Given the description of an element on the screen output the (x, y) to click on. 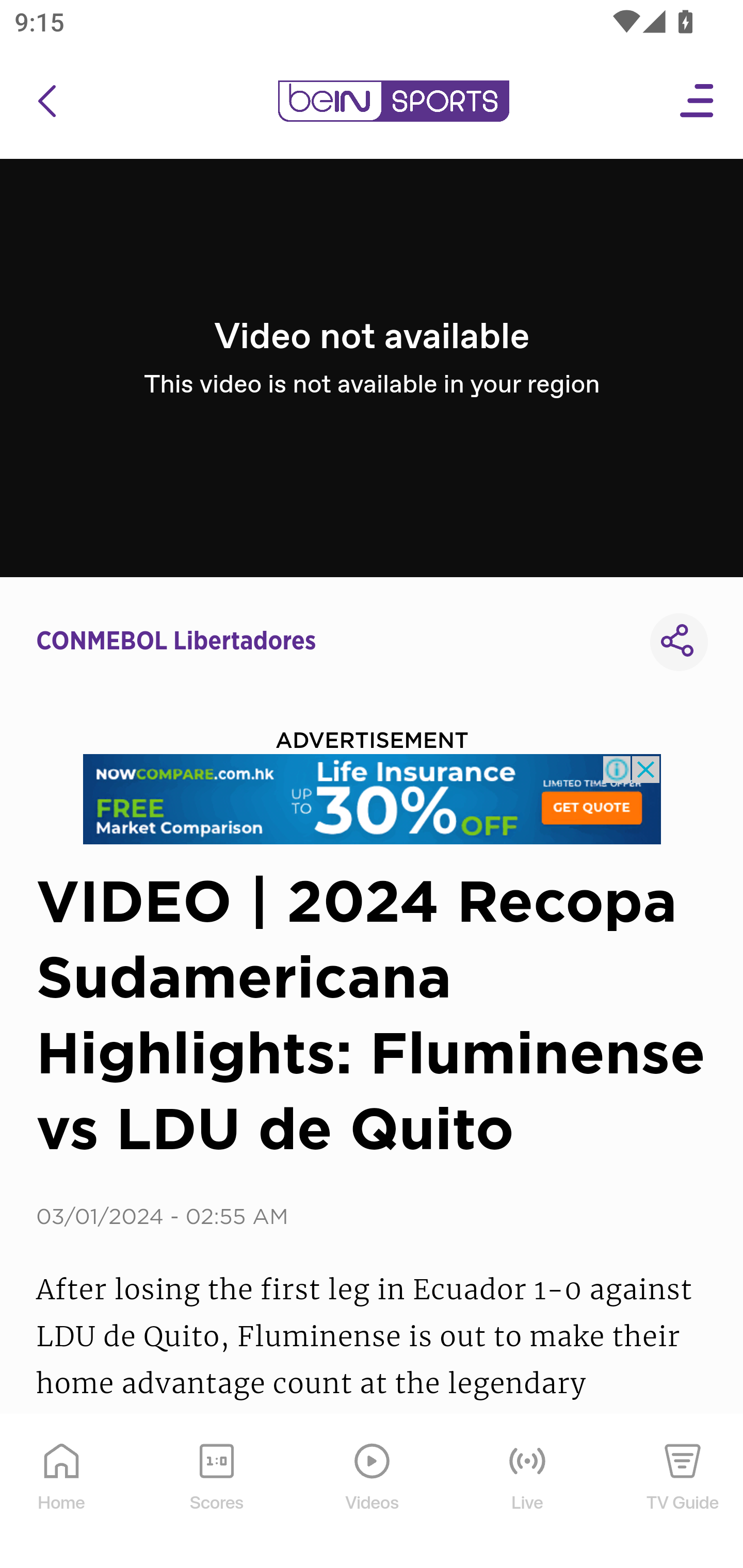
en-us?platform=mobile_android bein logo (392, 101)
icon back (46, 101)
Open Menu Icon (697, 101)
Home Home Icon Home (61, 1491)
Scores Scores Icon Scores (216, 1491)
Videos Videos Icon Videos (372, 1491)
TV Guide TV Guide Icon TV Guide (682, 1491)
